Given the description of an element on the screen output the (x, y) to click on. 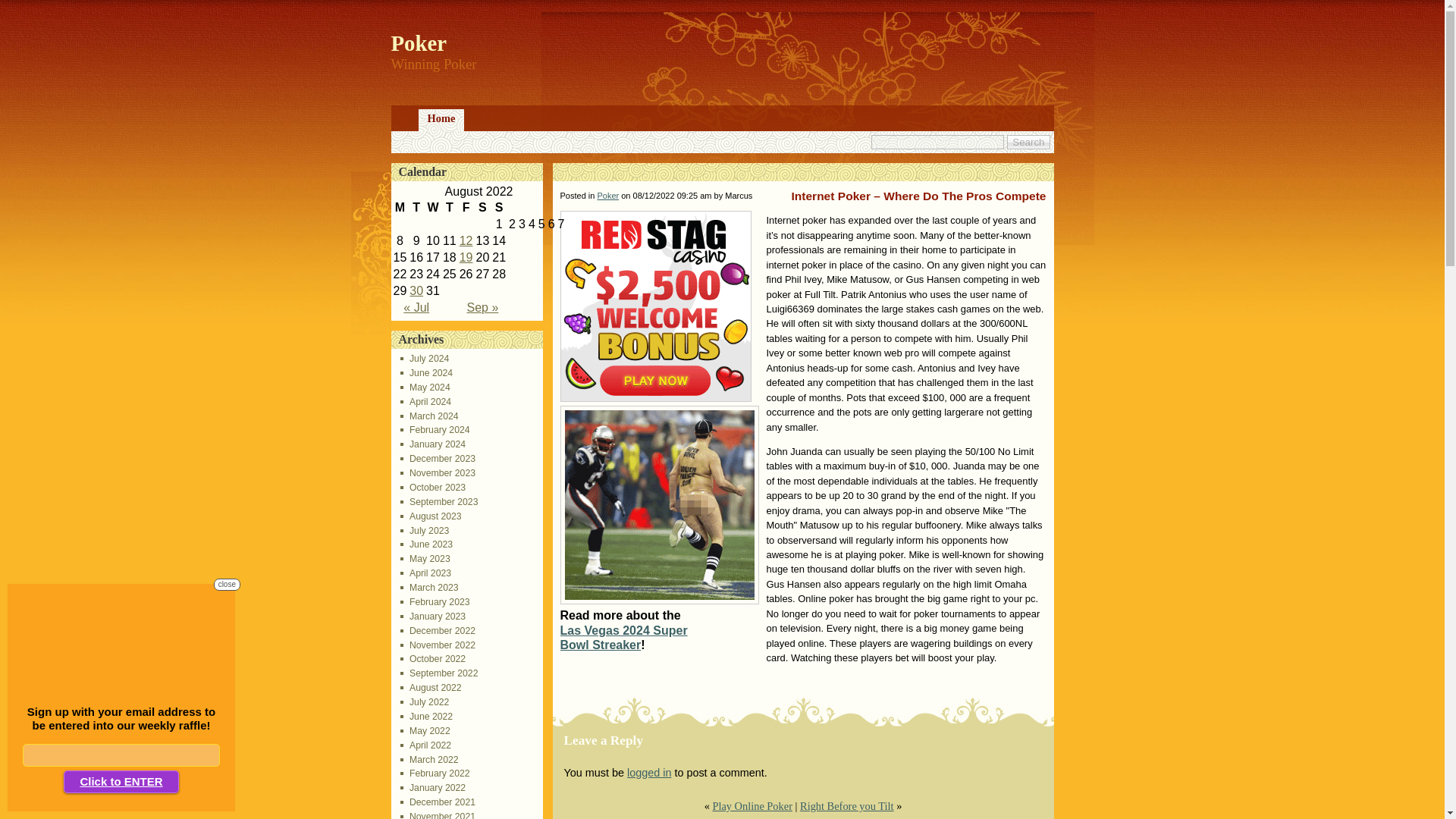
Thursday (449, 207)
November 2022 (438, 644)
19 (466, 256)
June 2023 (426, 543)
Friday (466, 207)
Saturday (481, 207)
April 2024 (425, 401)
March 2022 (429, 759)
June 2022 (426, 716)
June 2024 (426, 372)
Home (441, 119)
August 2022 (430, 687)
July 2024 (424, 357)
View posts for July 2022 (416, 307)
October 2023 (432, 487)
